Given the description of an element on the screen output the (x, y) to click on. 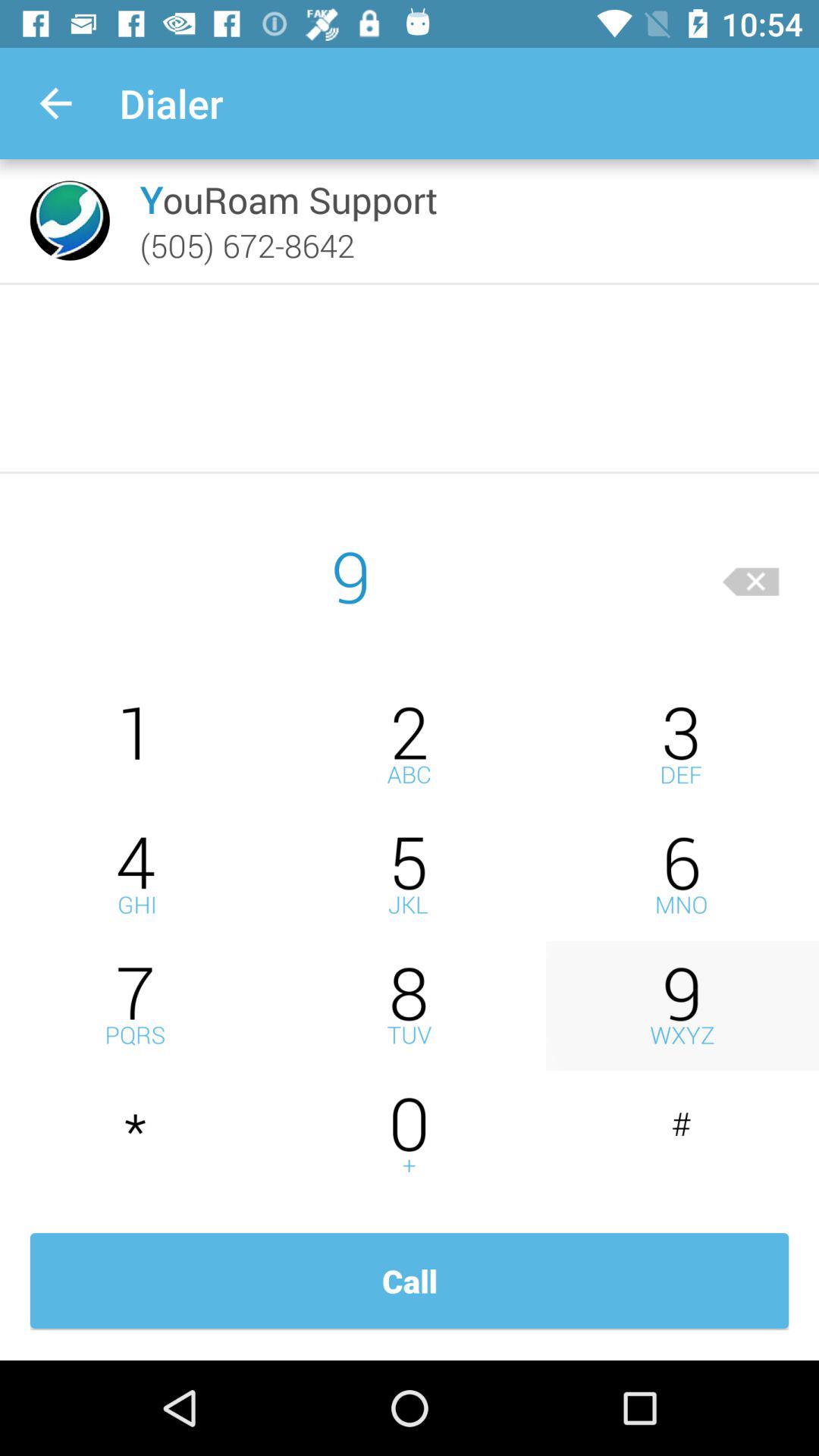
shows the number option (682, 1135)
